Given the description of an element on the screen output the (x, y) to click on. 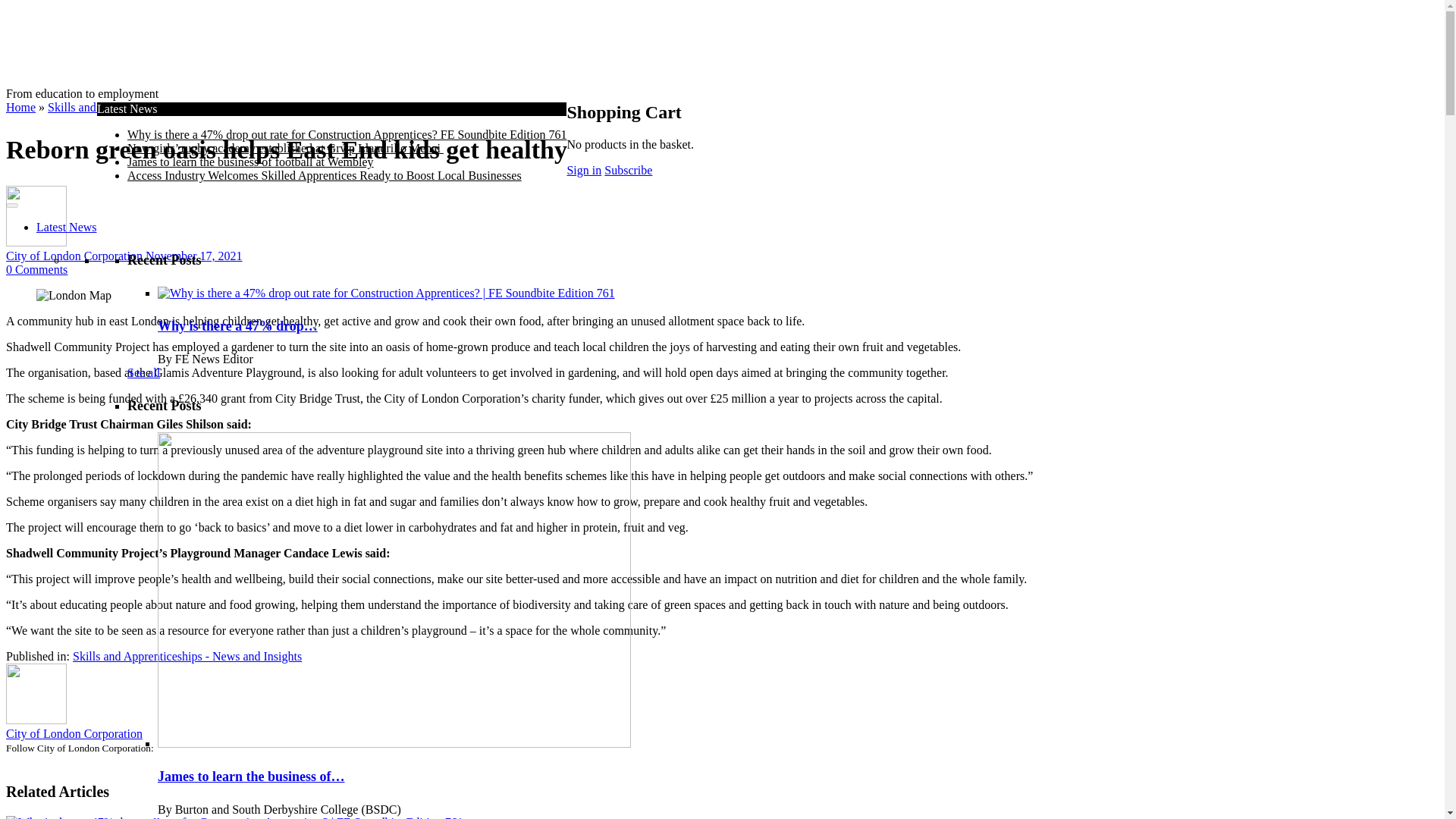
Subscribe (628, 169)
Latest News (66, 226)
See all (144, 817)
Sign in (583, 169)
James to learn the business of football at Wembley (251, 161)
See all (144, 372)
